Given the description of an element on the screen output the (x, y) to click on. 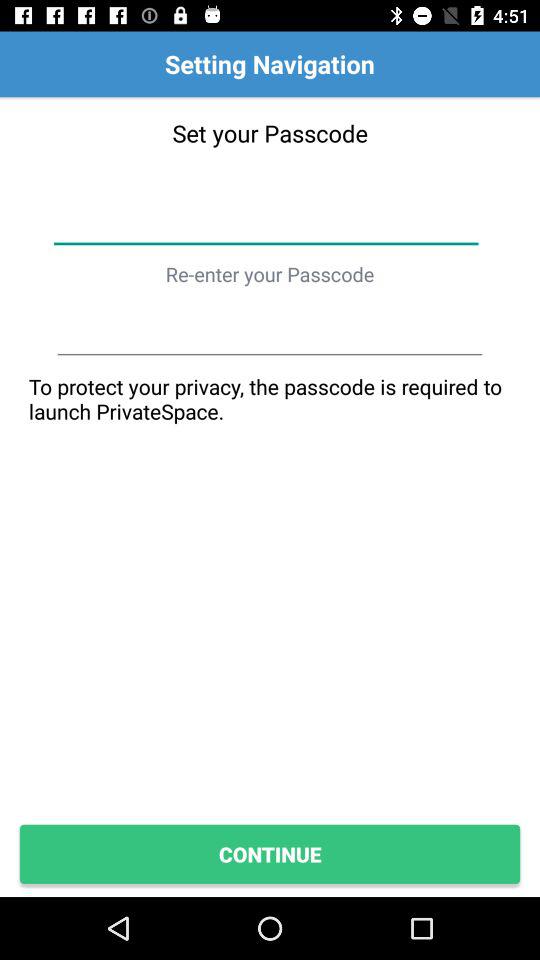
turn off the app below the to protect your item (269, 853)
